Given the description of an element on the screen output the (x, y) to click on. 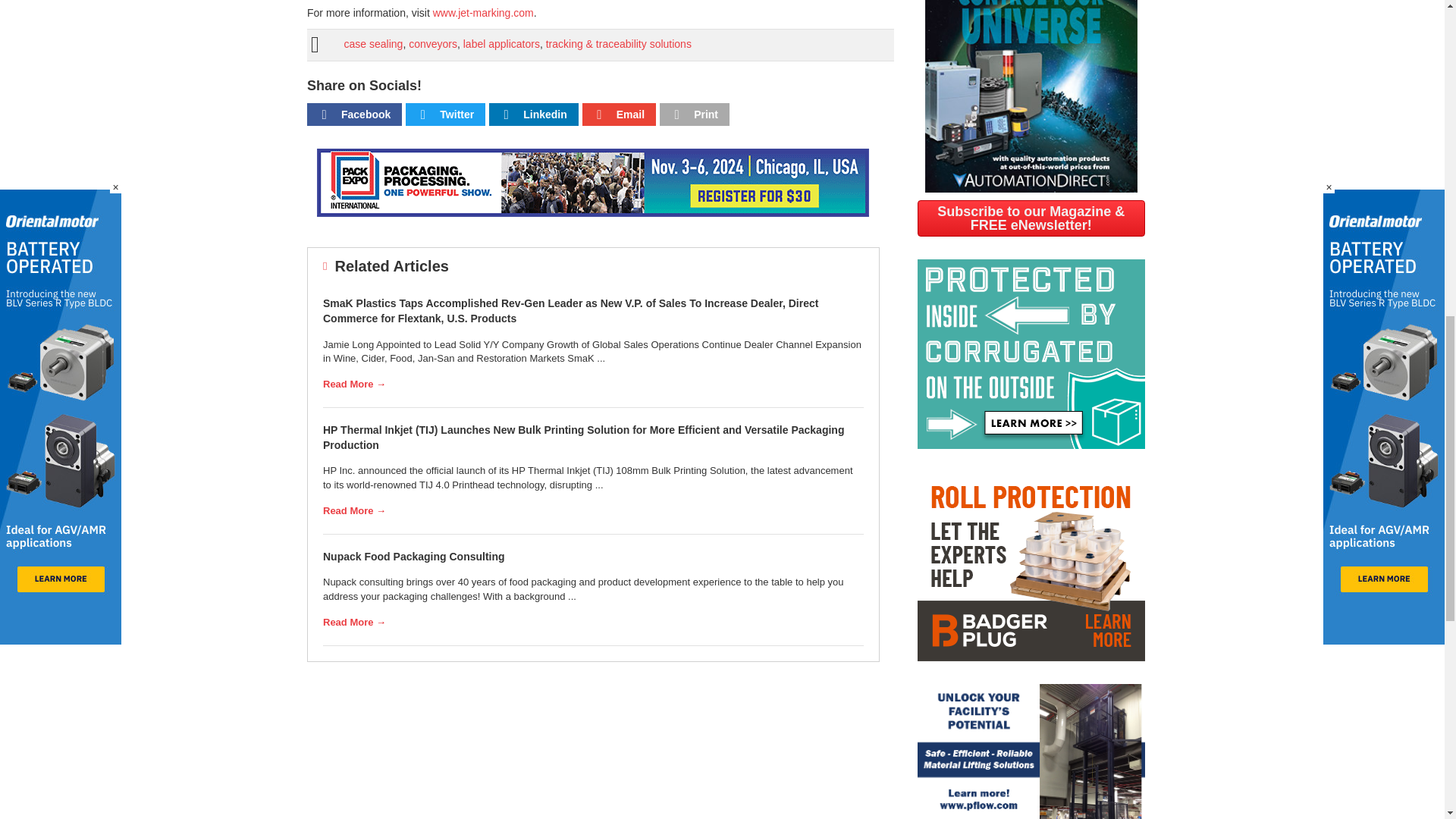
Nupack Food Packaging Consulting (414, 556)
